Given the description of an element on the screen output the (x, y) to click on. 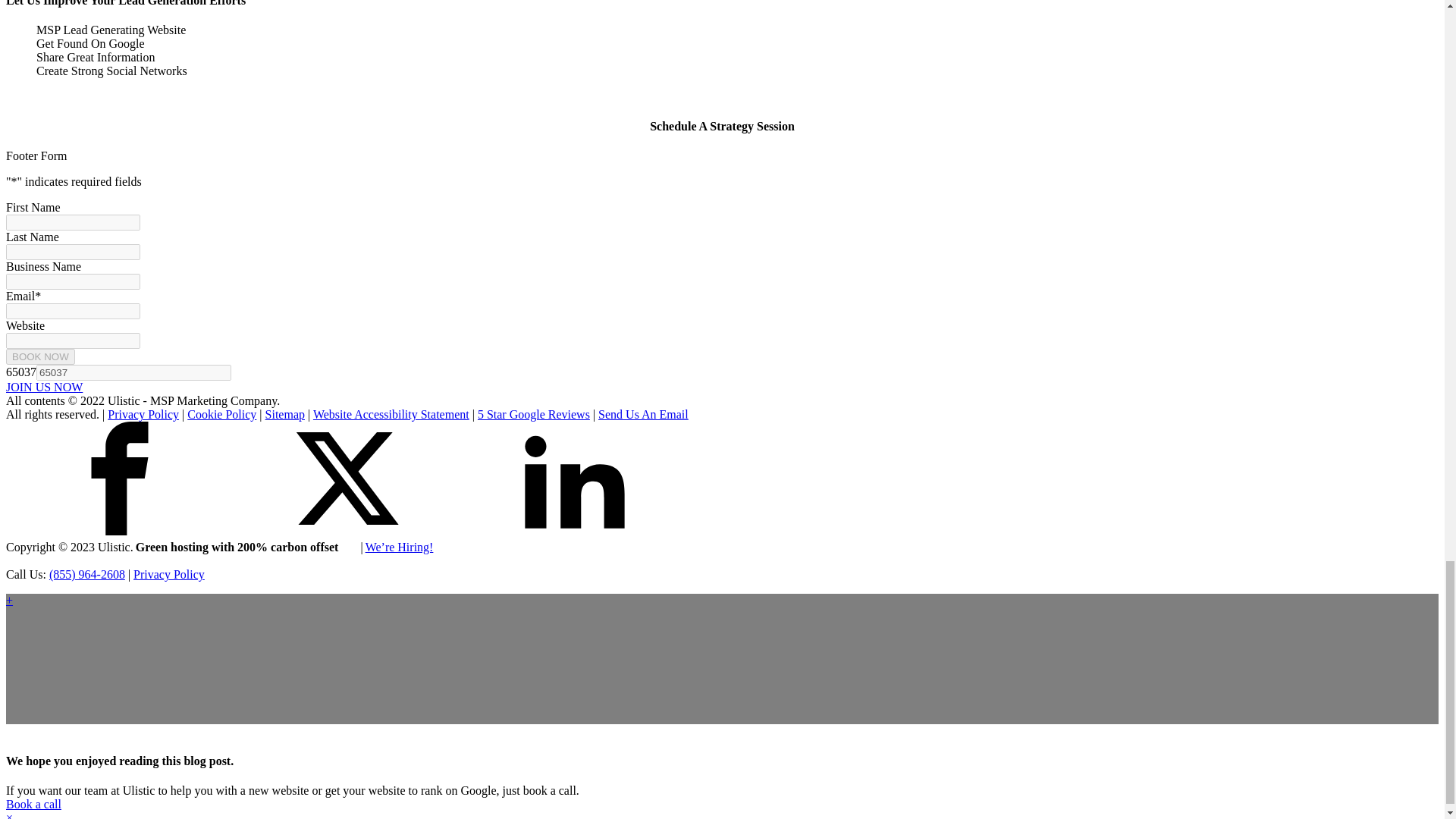
Sitemap (284, 413)
Privacy Policy (143, 413)
65037 (133, 372)
Visit our LinkedIn (574, 530)
Visit our LinkedIn (574, 478)
BOOK NOW (40, 356)
5 Star Google Reviews (533, 413)
BOOK NOW (40, 356)
Visit our Facebook (118, 530)
Book a call (33, 803)
